Given the description of an element on the screen output the (x, y) to click on. 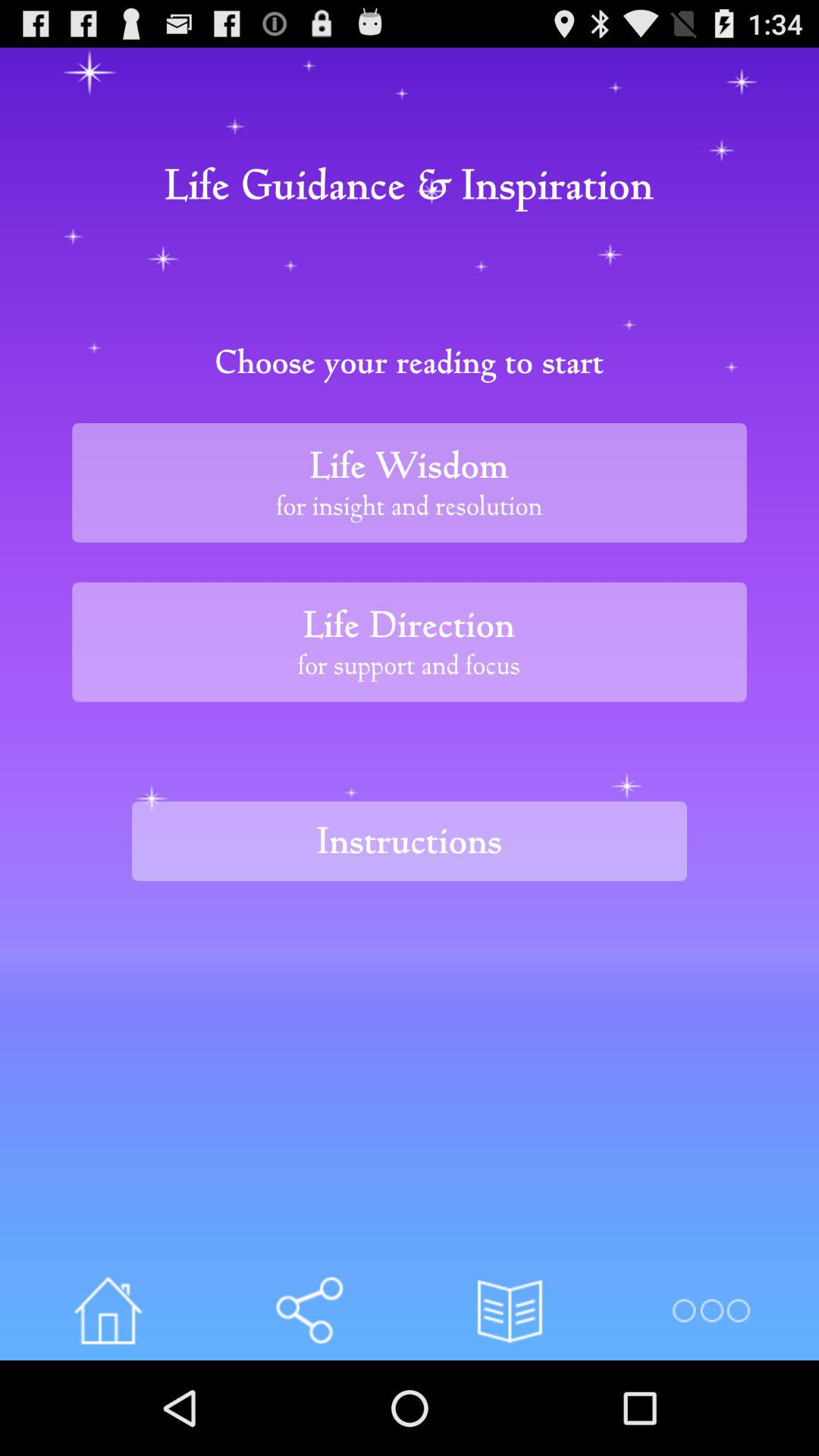
view categories (710, 1310)
